Given the description of an element on the screen output the (x, y) to click on. 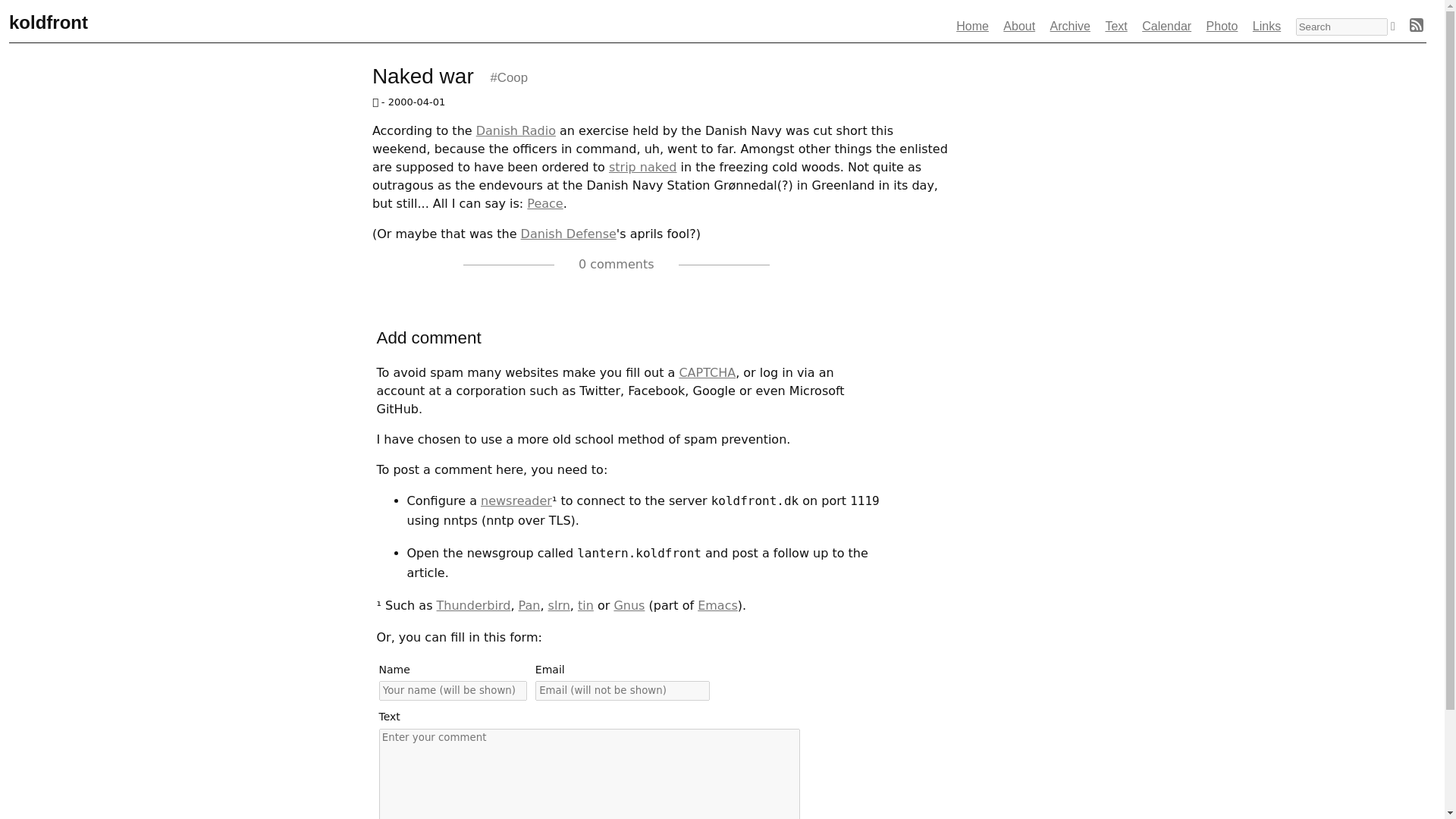
Gnus (628, 605)
CAPTCHA (706, 372)
tin (586, 605)
2000-04-01 13:33 (675, 264)
Home (972, 25)
In Danish (642, 166)
strip naked (642, 166)
Pan (529, 605)
slrn (559, 605)
Text (1115, 25)
Danish Radio (516, 130)
Naked war (428, 75)
Danish Defense (568, 233)
0 comments (582, 264)
Emacs (717, 605)
